Given the description of an element on the screen output the (x, y) to click on. 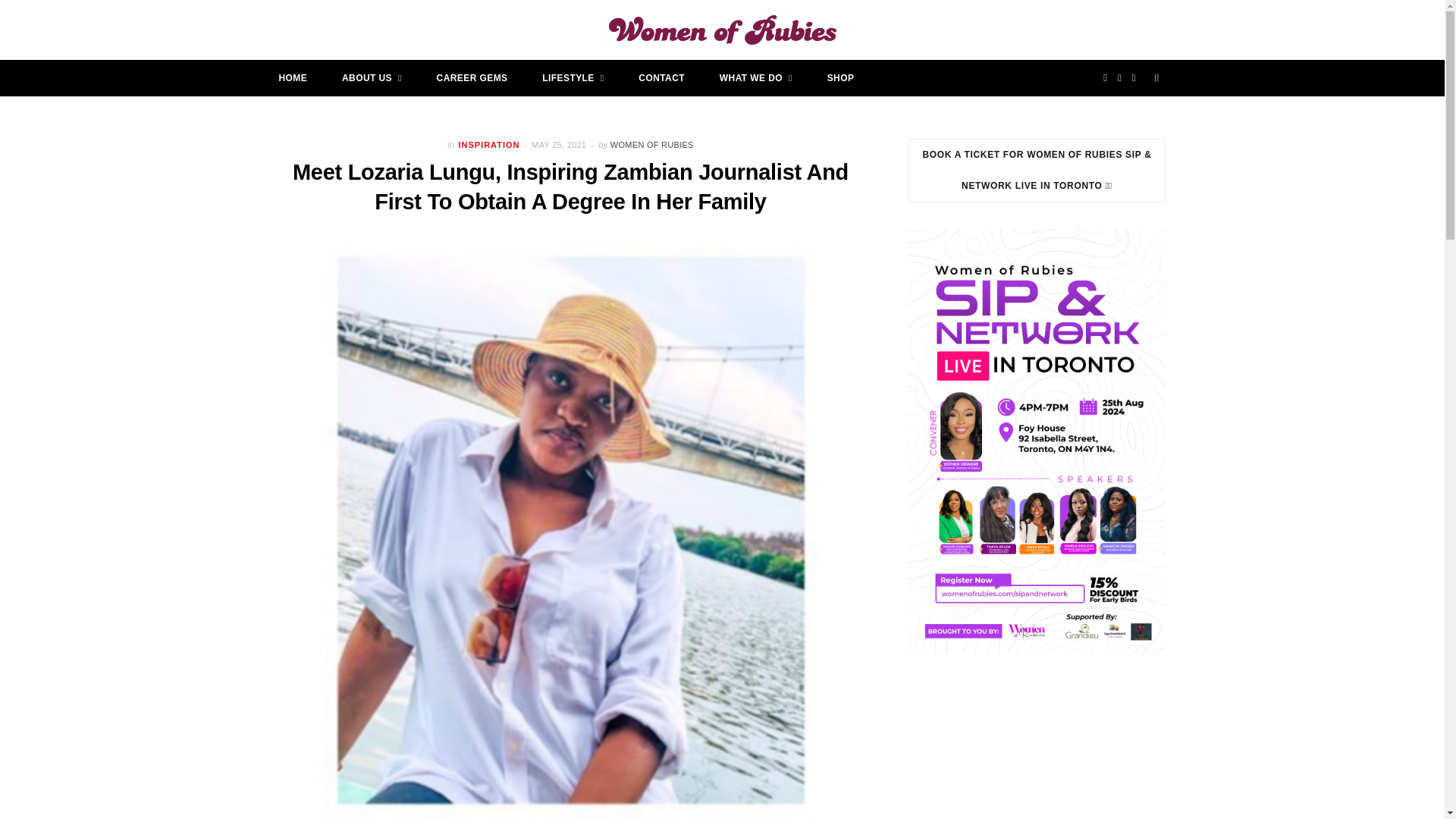
HOME (292, 77)
SHOP (840, 77)
MAY 25, 2021 (559, 144)
CONTACT (661, 77)
CAREER GEMS (472, 77)
Posts by Women of Rubies (652, 144)
Women of Rubies (721, 30)
LIFESTYLE (572, 77)
WHAT WE DO (755, 77)
INSPIRATION (488, 144)
